Given the description of an element on the screen output the (x, y) to click on. 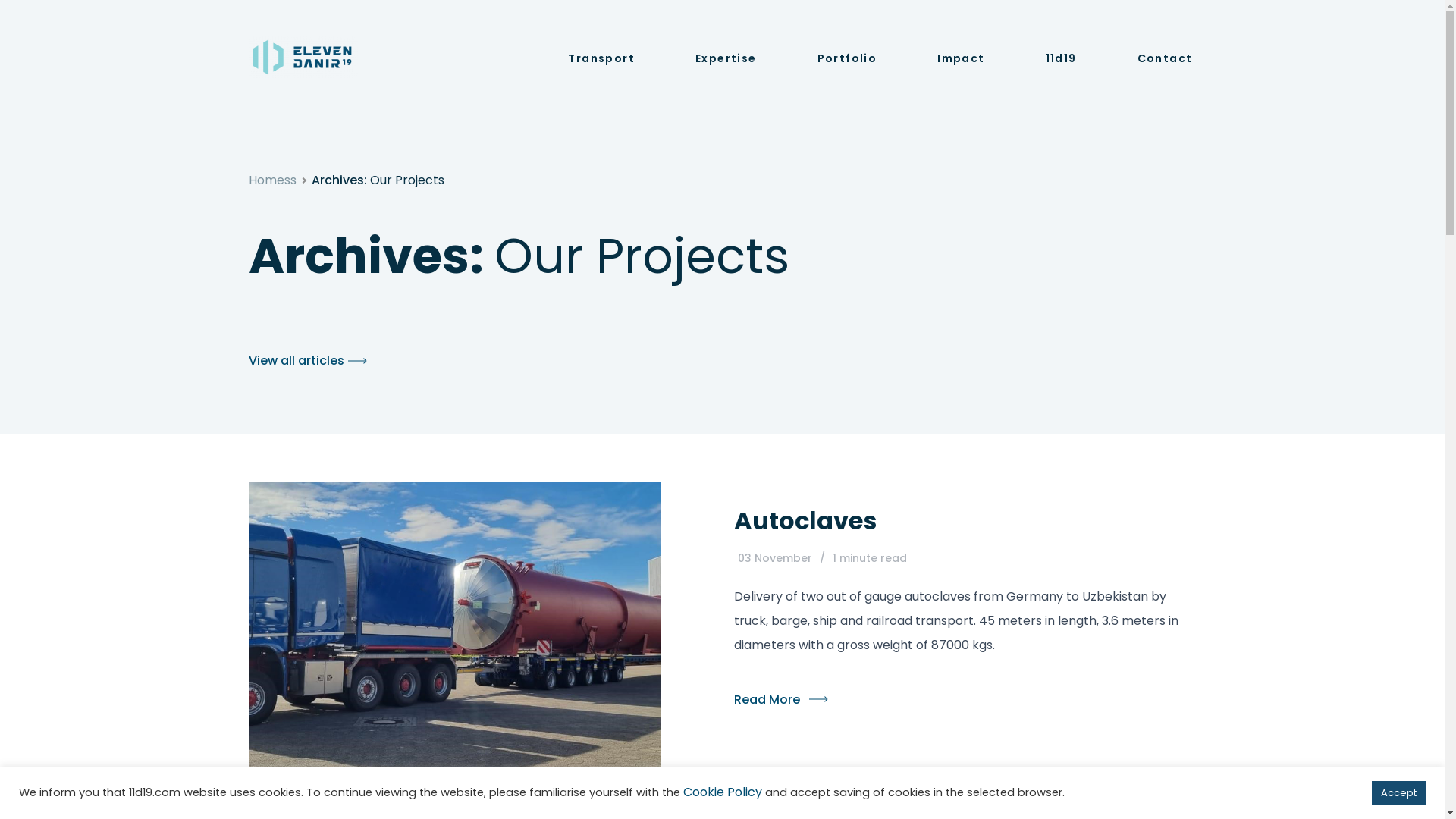
11d19 Element type: text (1060, 58)
Expertise Element type: text (725, 58)
Transport Element type: text (600, 58)
Contact Element type: text (1164, 58)
Accept Element type: text (1398, 792)
Impact Element type: text (960, 58)
View all articles Element type: text (296, 361)
Portfolio Element type: text (847, 58)
Read More Element type: text (965, 696)
Homess Element type: text (272, 179)
Cookie Policy Element type: text (722, 791)
Autoclaves Element type: text (965, 520)
